Given the description of an element on the screen output the (x, y) to click on. 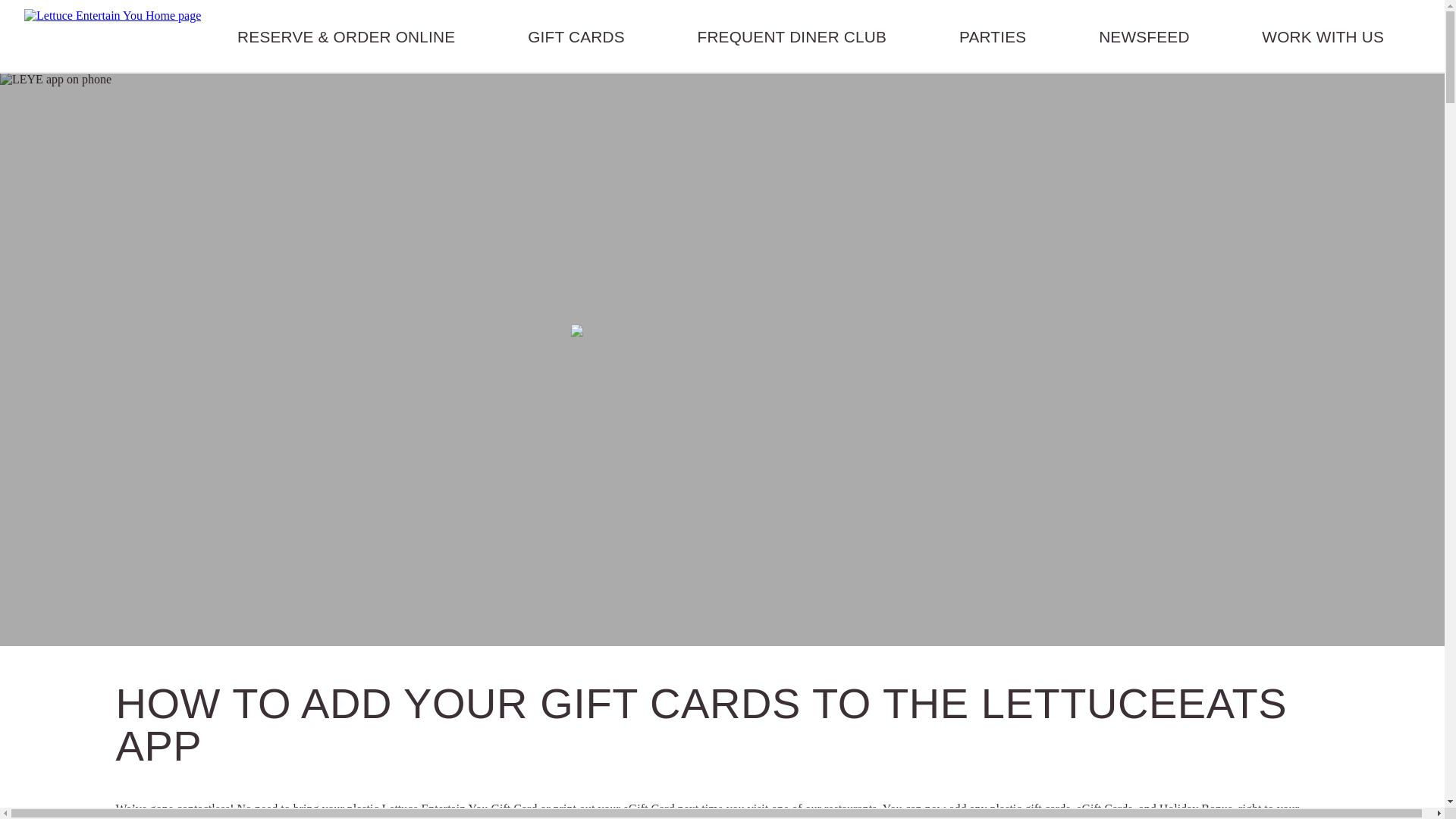
NEWSFEED (1144, 35)
GIFT CARDS (575, 35)
PARTIES (992, 35)
FREQUENT DINER CLUB (791, 35)
WORK WITH US (1323, 35)
